Given the description of an element on the screen output the (x, y) to click on. 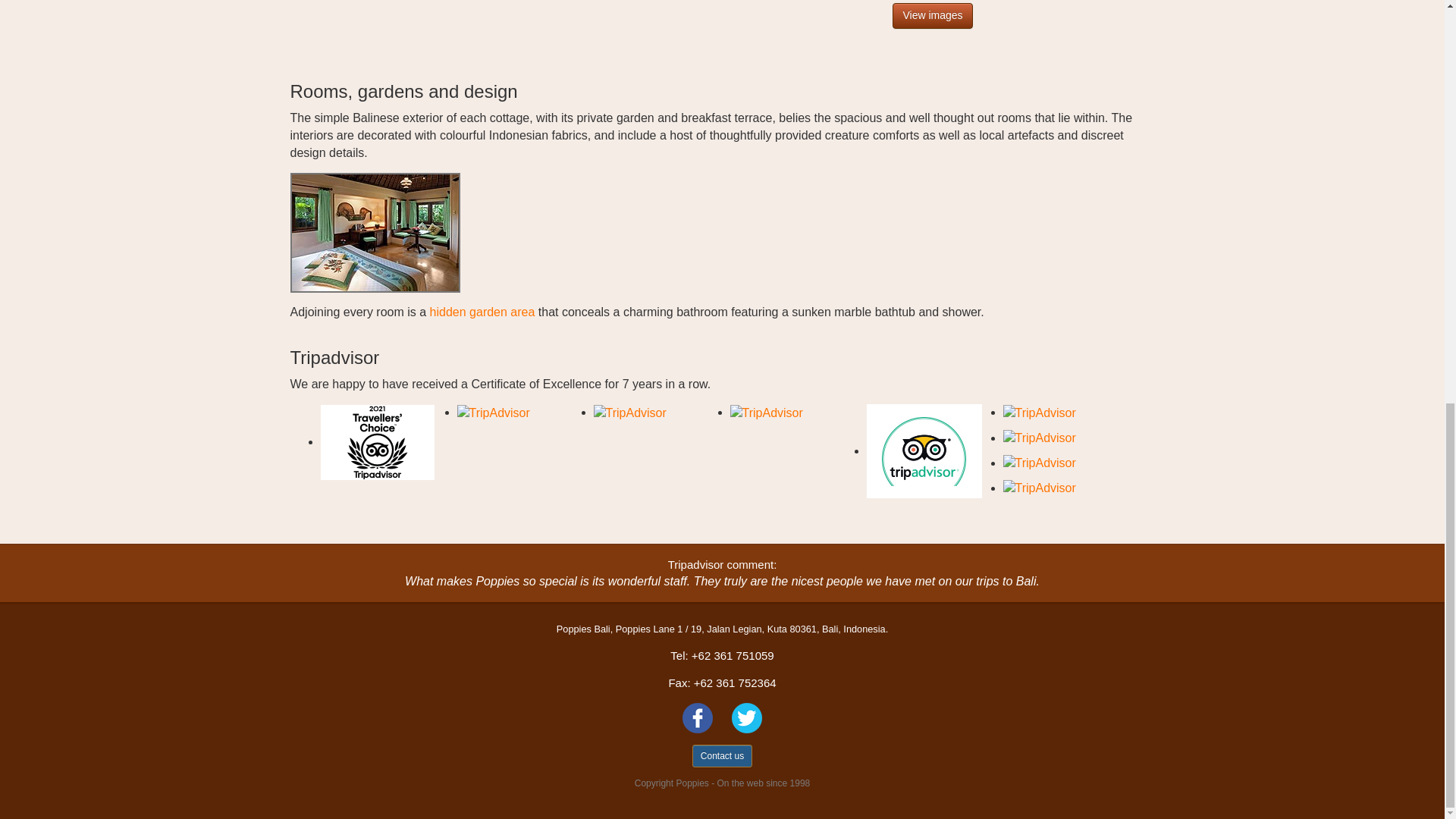
hidden garden area (482, 311)
Contact us (722, 755)
Contact us (722, 754)
View images (932, 15)
